Given the description of an element on the screen output the (x, y) to click on. 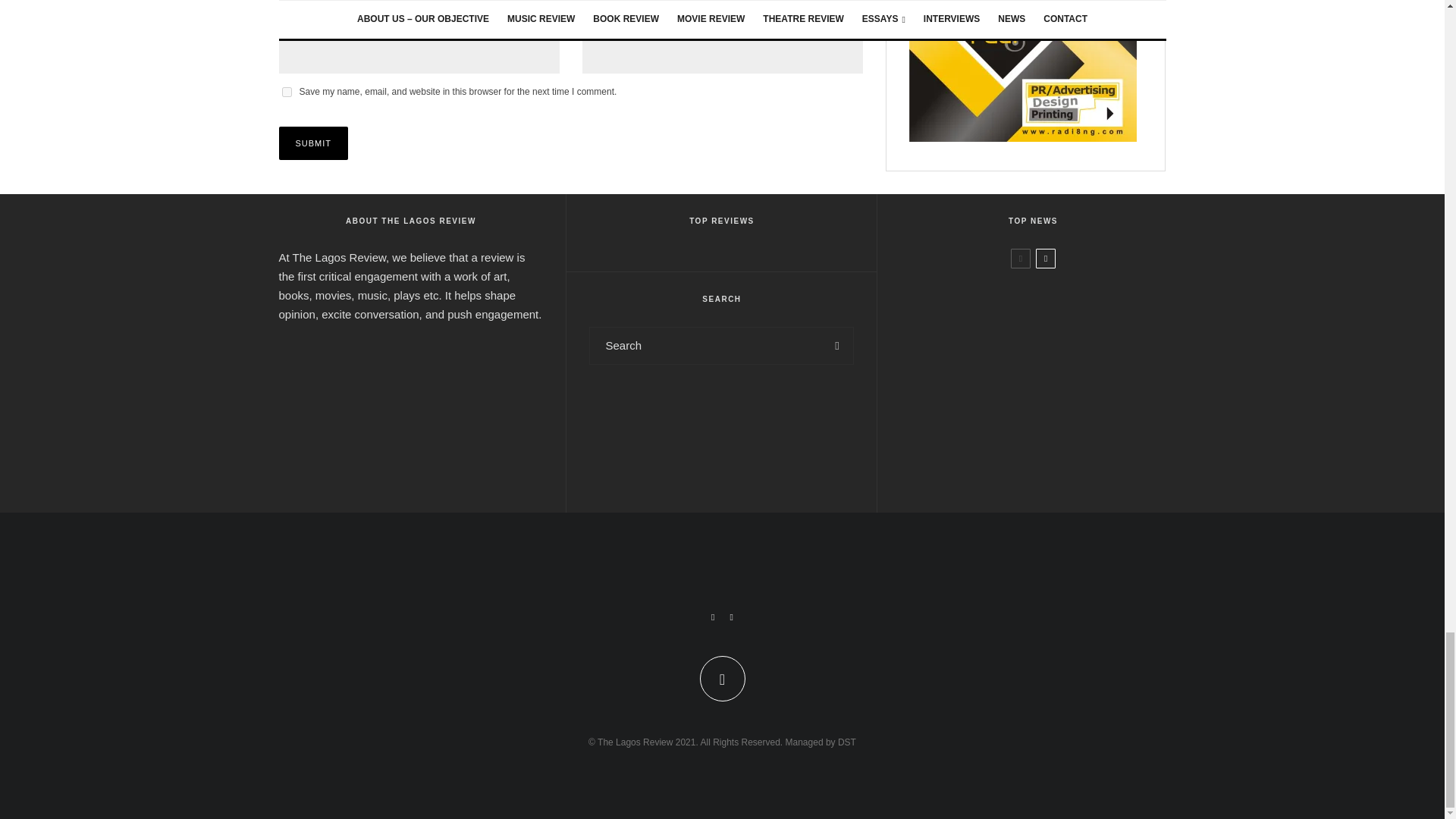
yes (287, 91)
Submit (314, 142)
